Given the description of an element on the screen output the (x, y) to click on. 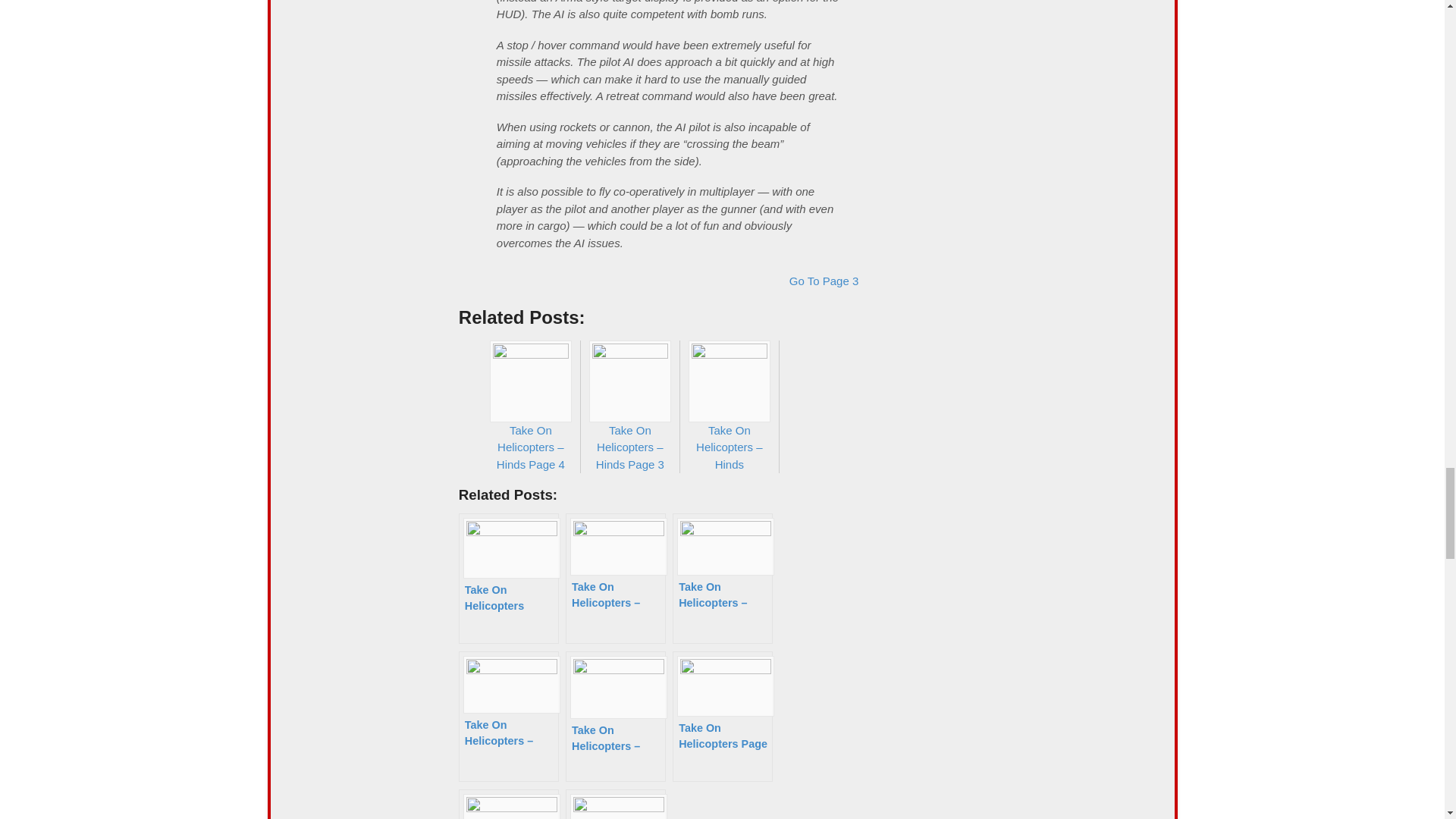
Take On Helicopters Page 4 (508, 804)
Take On Helicopters Page 5 (615, 804)
Go To Page 3 (824, 280)
